Given the description of an element on the screen output the (x, y) to click on. 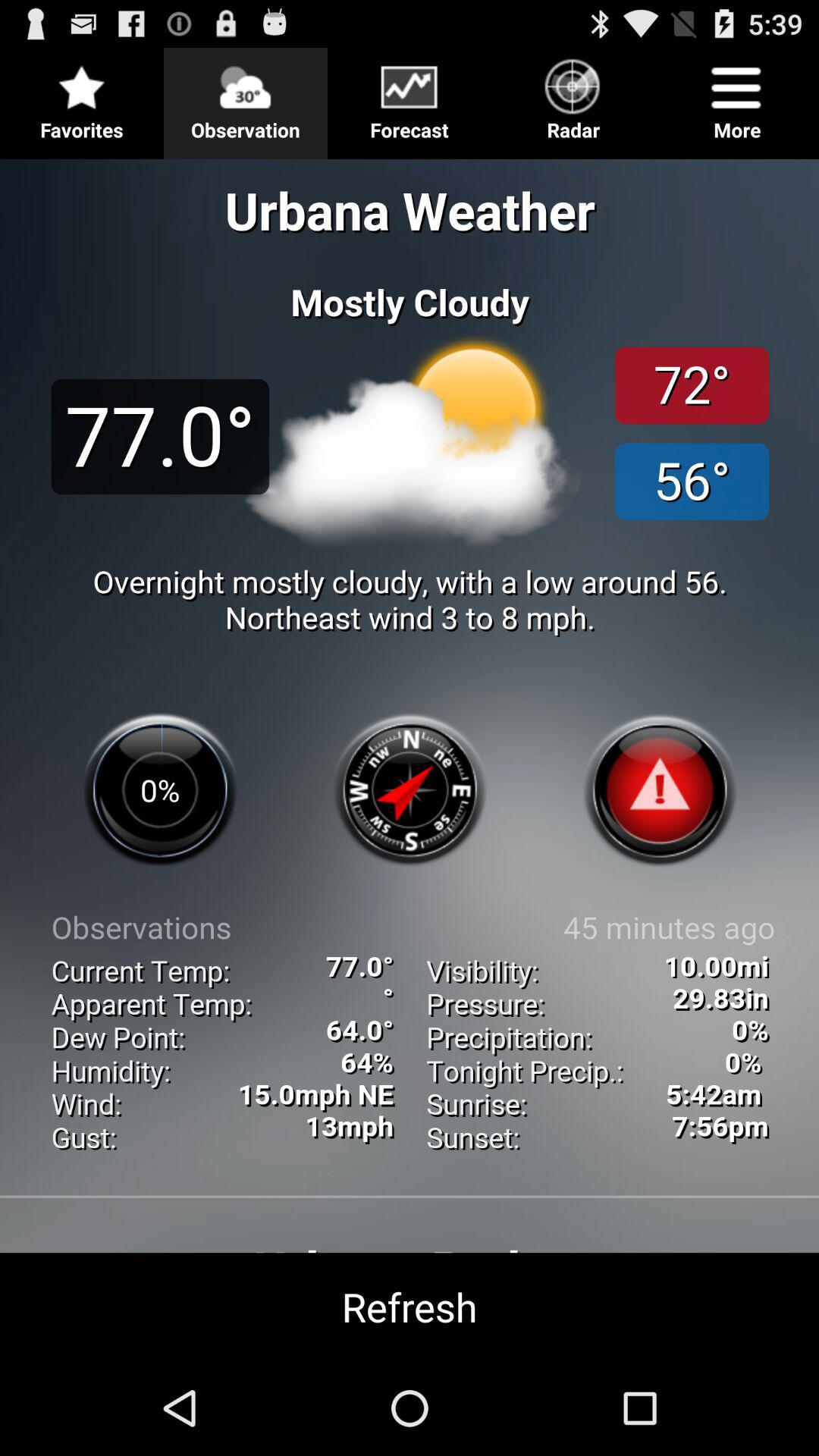
click to view more exact info (409, 753)
